Given the description of an element on the screen output the (x, y) to click on. 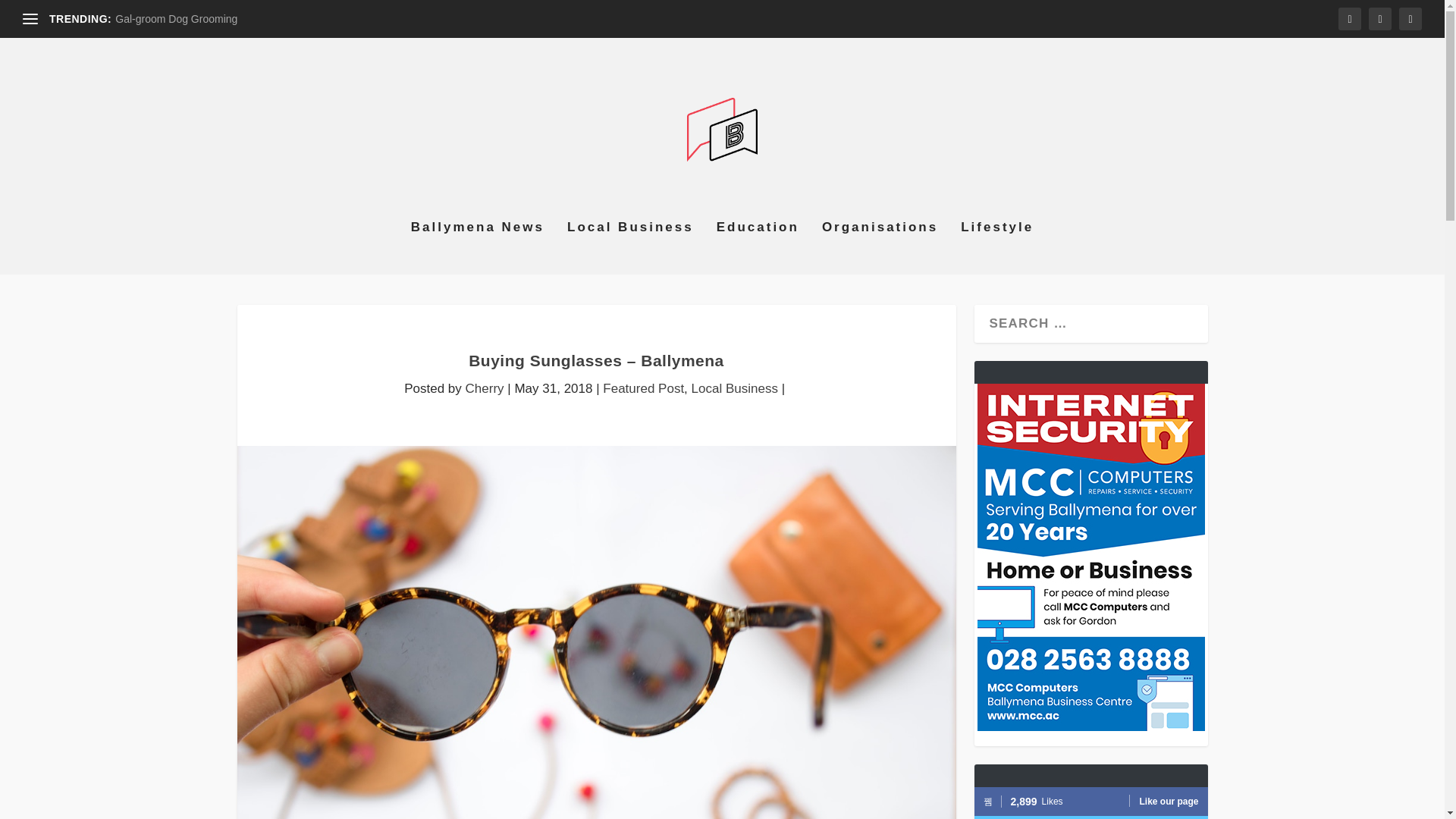
Featured Post (643, 388)
Local Business (734, 388)
Ballymena News (477, 247)
Lifestyle (996, 247)
Posts by Cherry (484, 388)
Education (757, 247)
Local Business (630, 247)
Organisations (879, 247)
Cherry (484, 388)
Gal-groom Dog Grooming (176, 19)
